Given the description of an element on the screen output the (x, y) to click on. 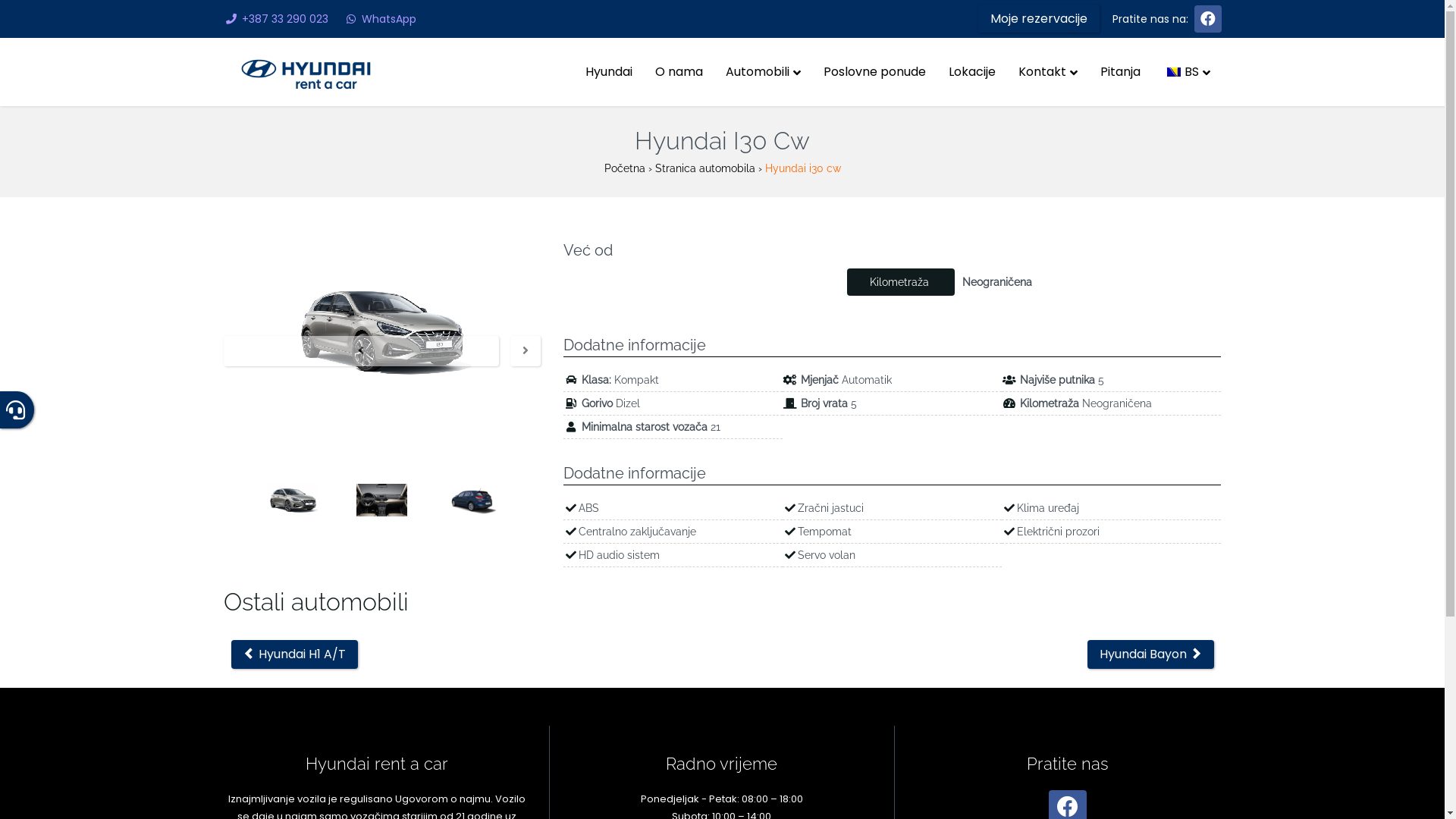
Hyundai H1 A/T Element type: text (293, 654)
+387 33 290 023 Element type: text (274, 18)
Automobili Element type: text (763, 71)
WhatsApp Element type: text (378, 18)
Facebook Element type: hover (1206, 18)
Hyundai iznajmiti automobil Element type: hover (304, 72)
Hyundai Element type: text (608, 71)
BS Element type: text (1185, 71)
Moje rezervacije Element type: text (1038, 18)
Pitanja Element type: text (1119, 71)
Lokacije Element type: text (972, 71)
Hyundai Bayon Element type: text (1150, 654)
Bosnian Element type: hover (1172, 71)
O nama Element type: text (678, 71)
Stranica automobila Element type: text (705, 168)
Poslovne ponude Element type: text (873, 71)
Kontakt Element type: text (1047, 71)
